Given the description of an element on the screen output the (x, y) to click on. 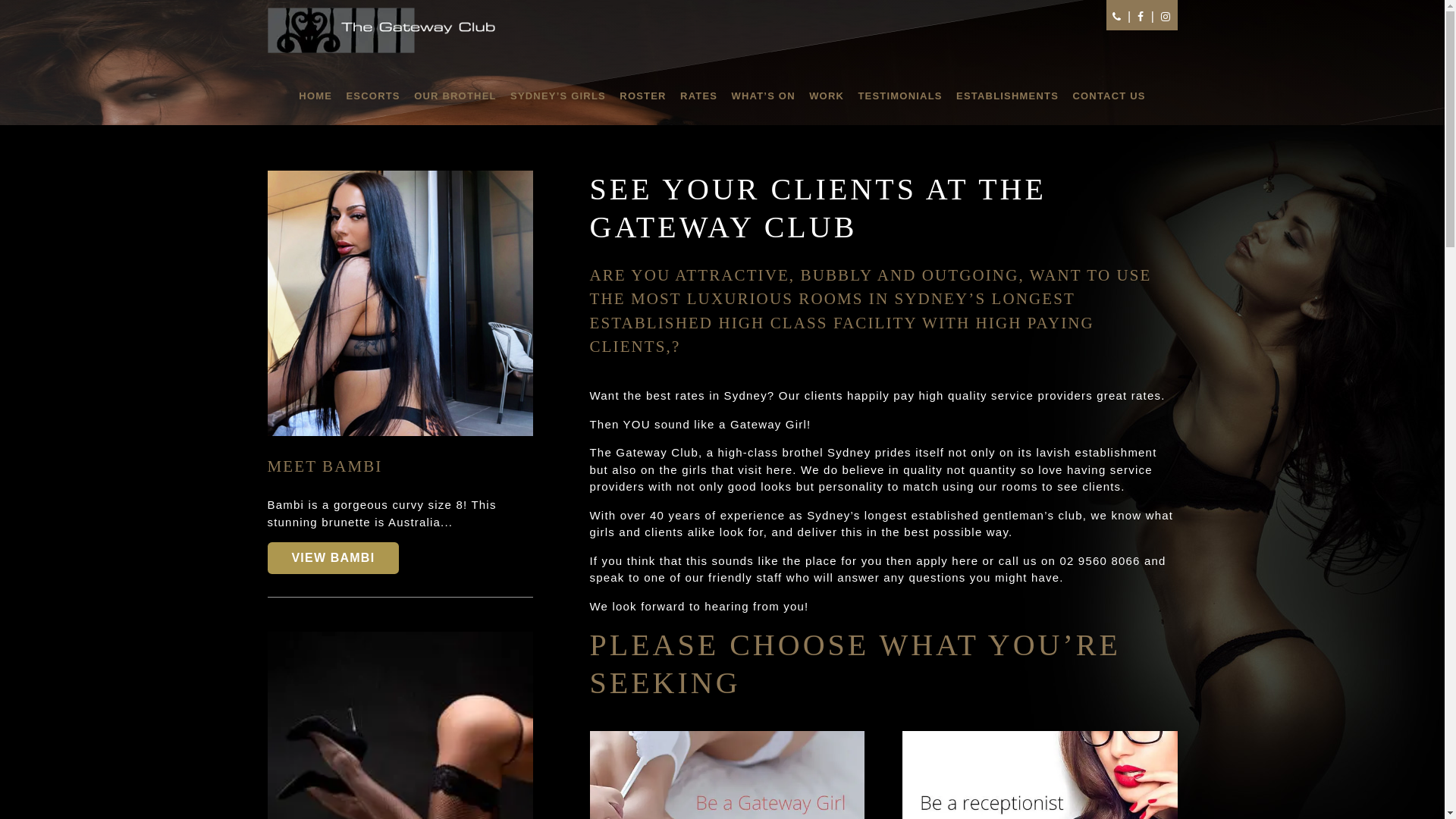
OUR BROTHEL Element type: text (455, 95)
VIEW BAMBI Element type: text (332, 558)
RATES Element type: text (698, 95)
HOME Element type: text (317, 95)
02 9560 8066 Element type: text (1099, 559)
ROSTER Element type: text (643, 95)
ESTABLISHMENTS Element type: text (1007, 95)
CONTACT US Element type: text (1106, 95)
high-class brothel Sydney Element type: text (794, 451)
TESTIMONIALS Element type: text (900, 95)
ESCORTS Element type: text (372, 95)
WORK Element type: text (826, 95)
